Given the description of an element on the screen output the (x, y) to click on. 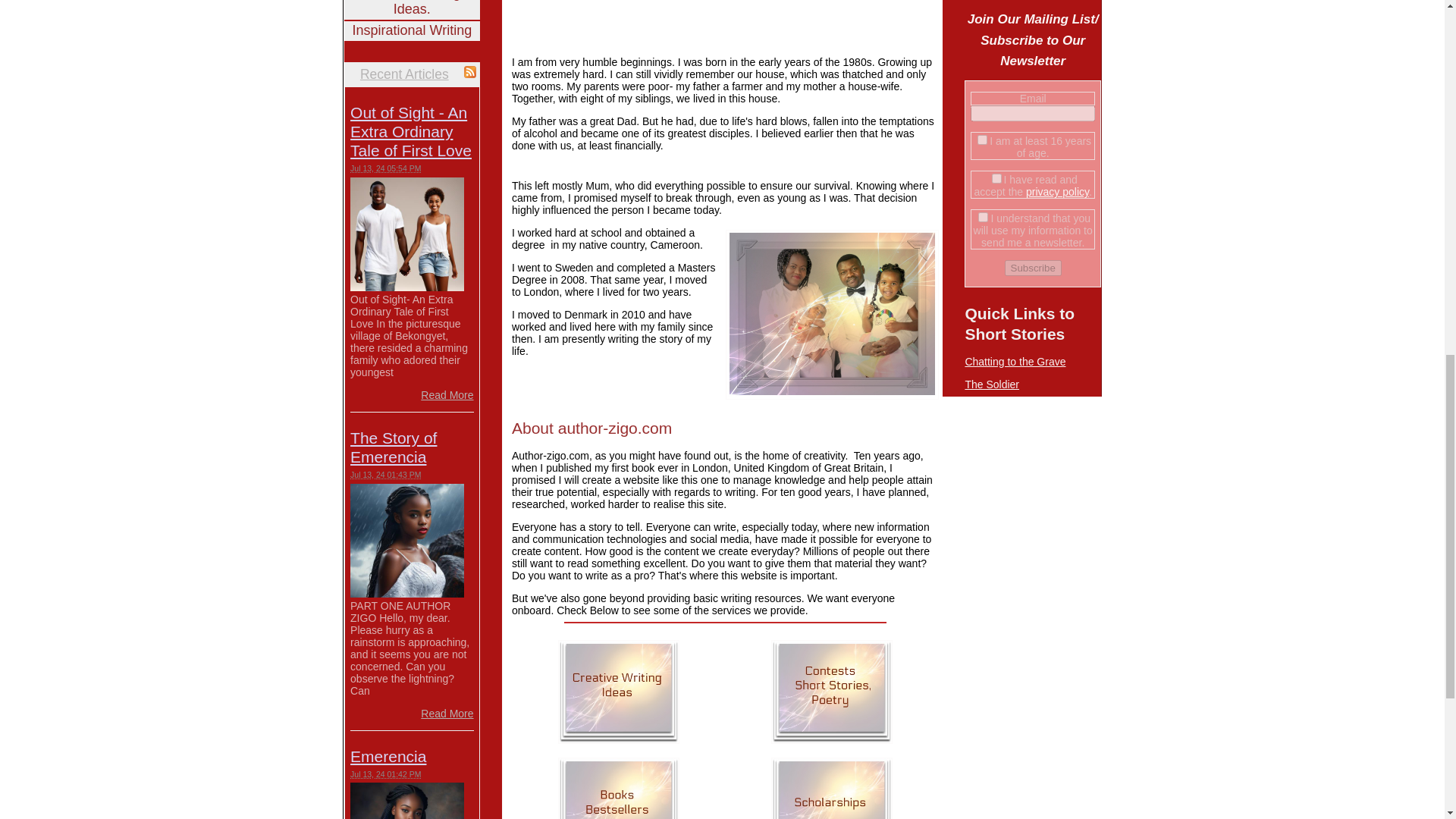
Advertisement (639, 21)
2024-07-13T17:54:45-0400 (385, 167)
2024-07-13T13:43:37-0400 (385, 474)
on (996, 178)
on (983, 216)
on (981, 139)
2024-07-13T13:42:18-0400 (385, 773)
